Given the description of an element on the screen output the (x, y) to click on. 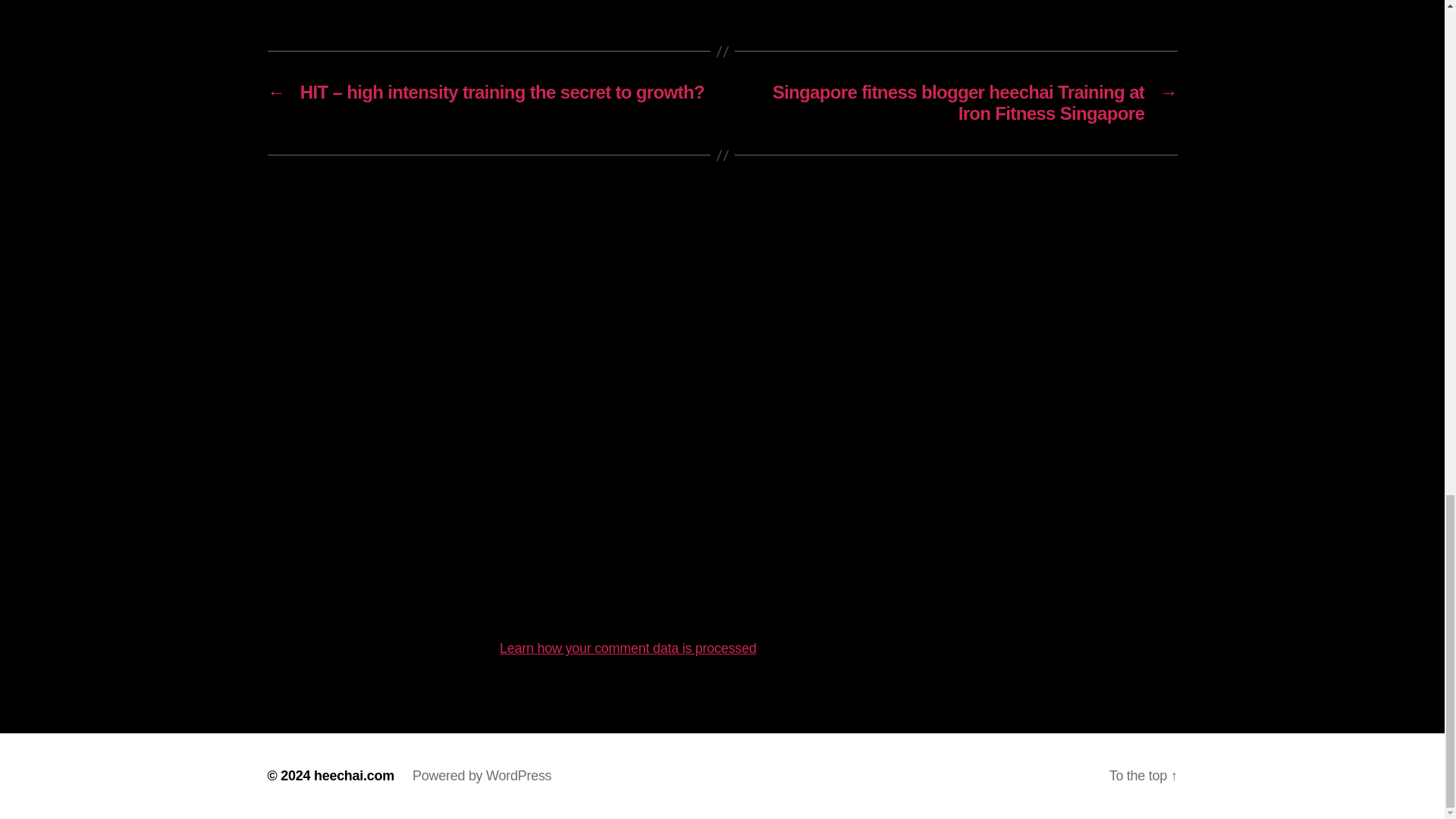
Learn how your comment data is processed (627, 648)
heechai.com (354, 775)
Powered by WordPress (481, 775)
